Given the description of an element on the screen output the (x, y) to click on. 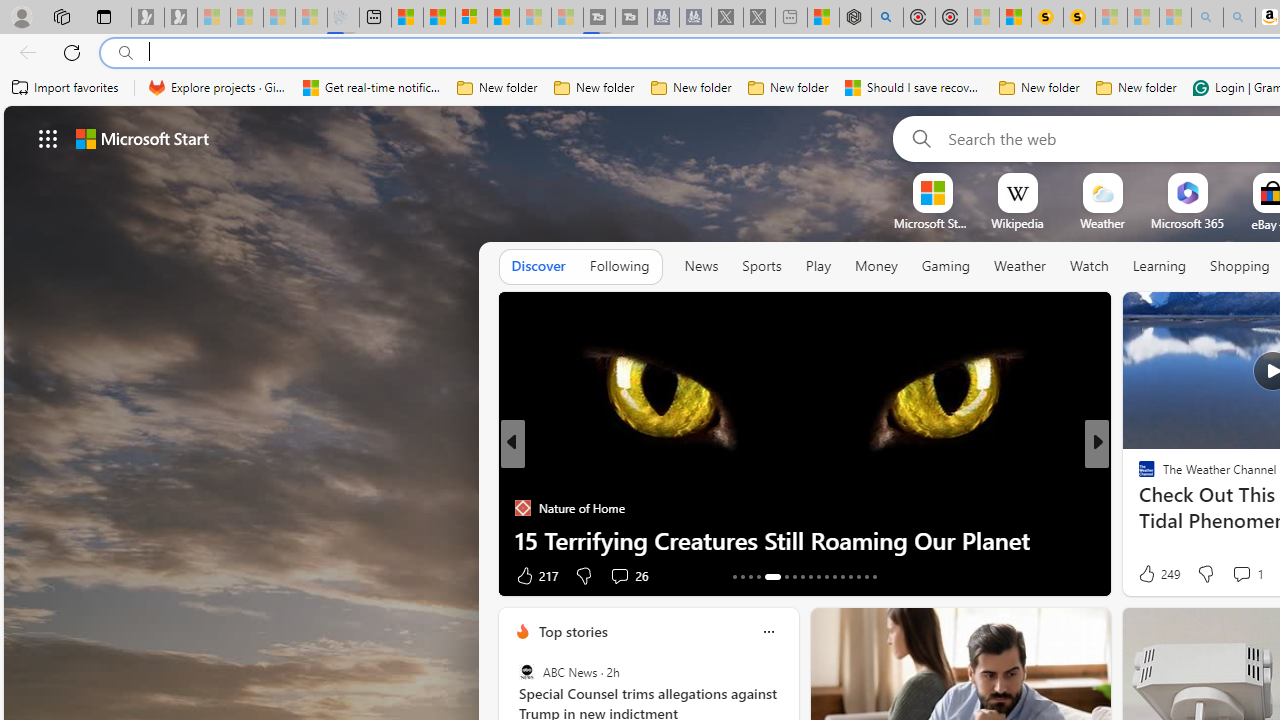
CNBC (1138, 475)
Forge of Empires (1175, 507)
15 Terrifying Creatures Still Roaming Our Planet (804, 539)
27 Like (1149, 574)
Top stories (572, 631)
View comments 2 Comment (1222, 575)
3 Like (1145, 574)
Scripps News (1138, 475)
AutomationID: tab-14 (742, 576)
